Given the description of an element on the screen output the (x, y) to click on. 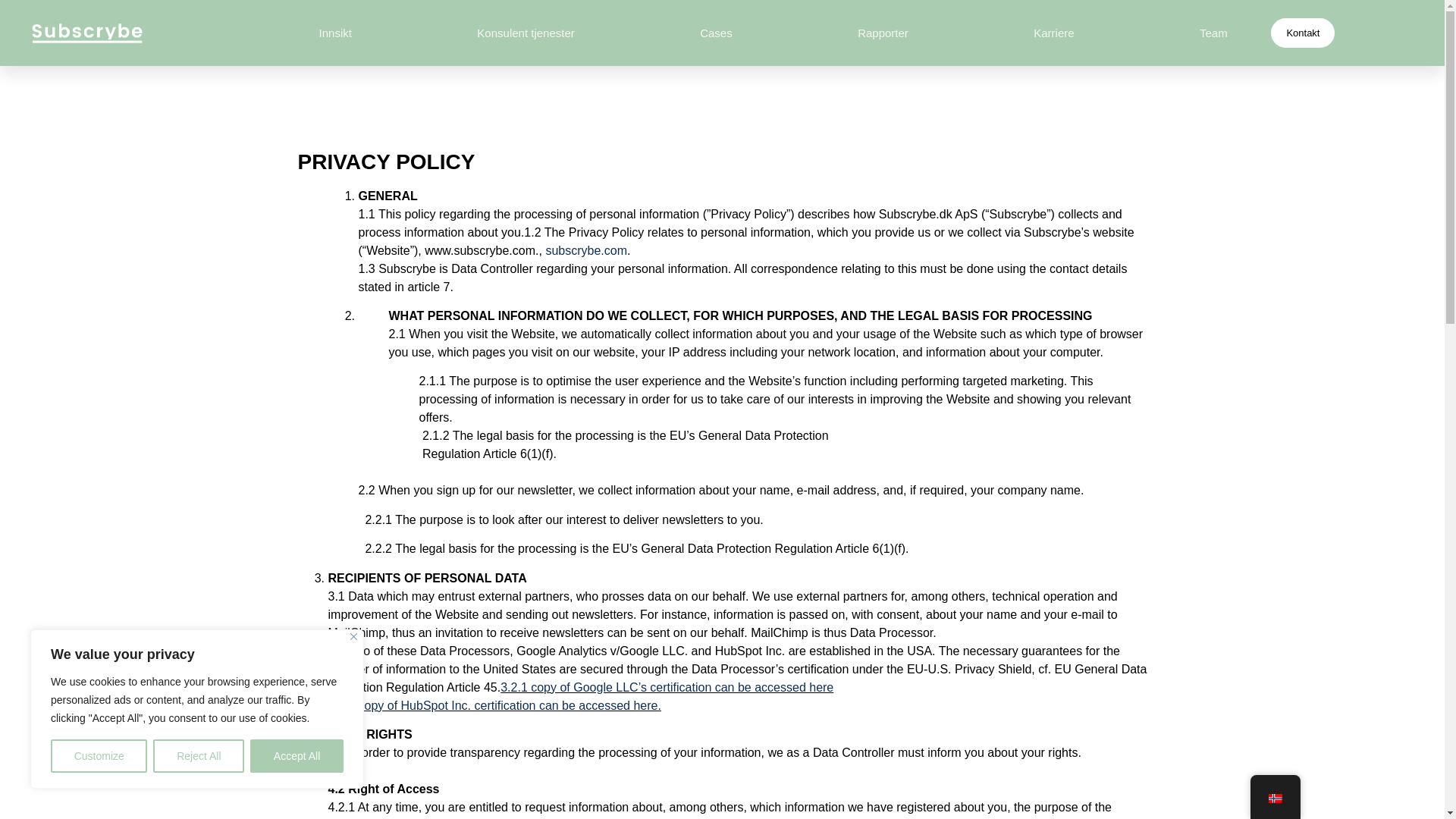
Rapporter (882, 33)
Kontakt (1303, 33)
Accept All (296, 756)
Reject All (198, 756)
Cases (716, 33)
Norwegian (1274, 798)
Konsulent tjenester (525, 33)
Innsikt (335, 33)
Karriere (1054, 33)
Team (1213, 33)
Customize (98, 756)
